Given the description of an element on the screen output the (x, y) to click on. 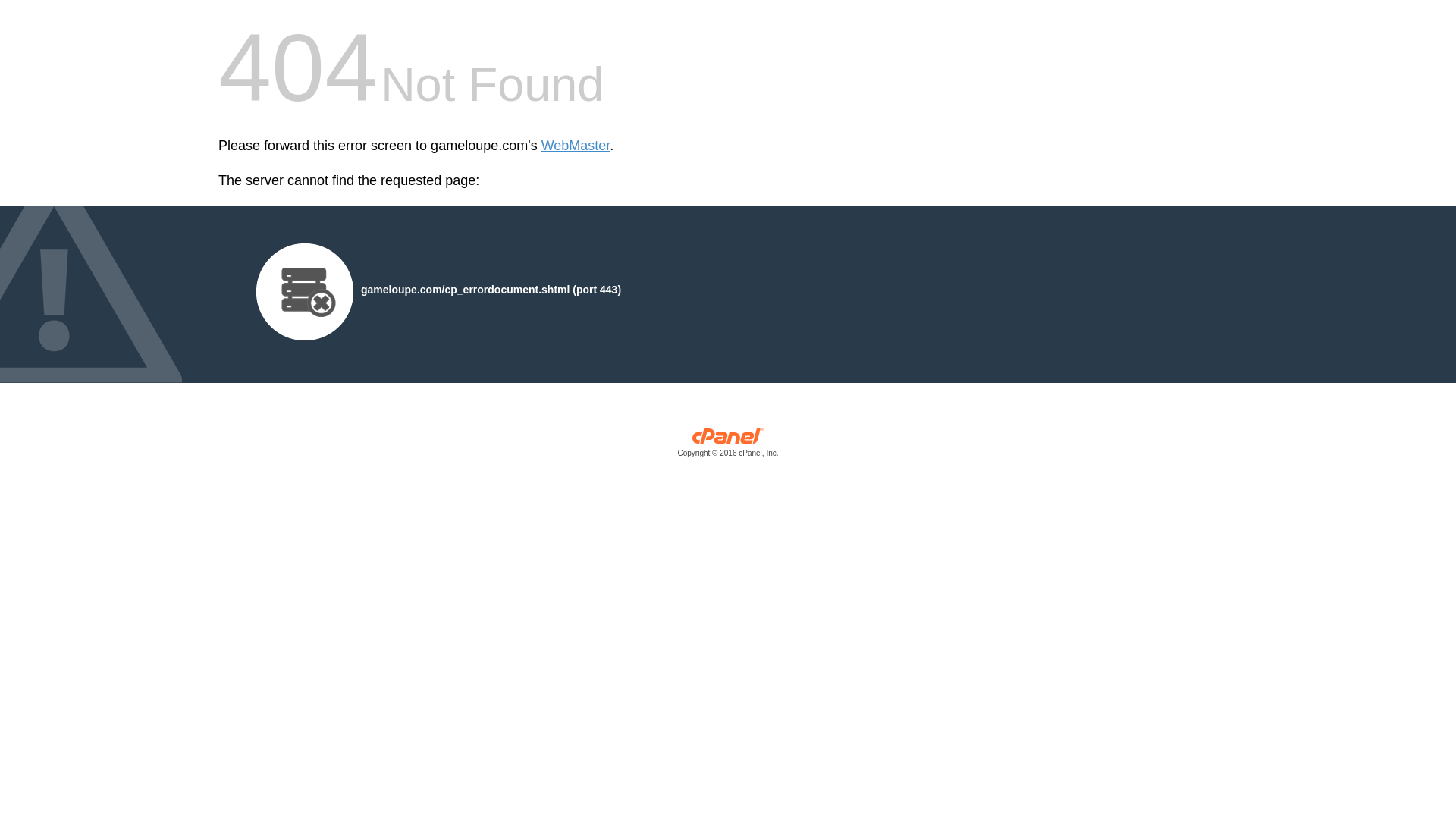
cPanel, Inc. (727, 446)
WebMaster (575, 145)
